Given the description of an element on the screen output the (x, y) to click on. 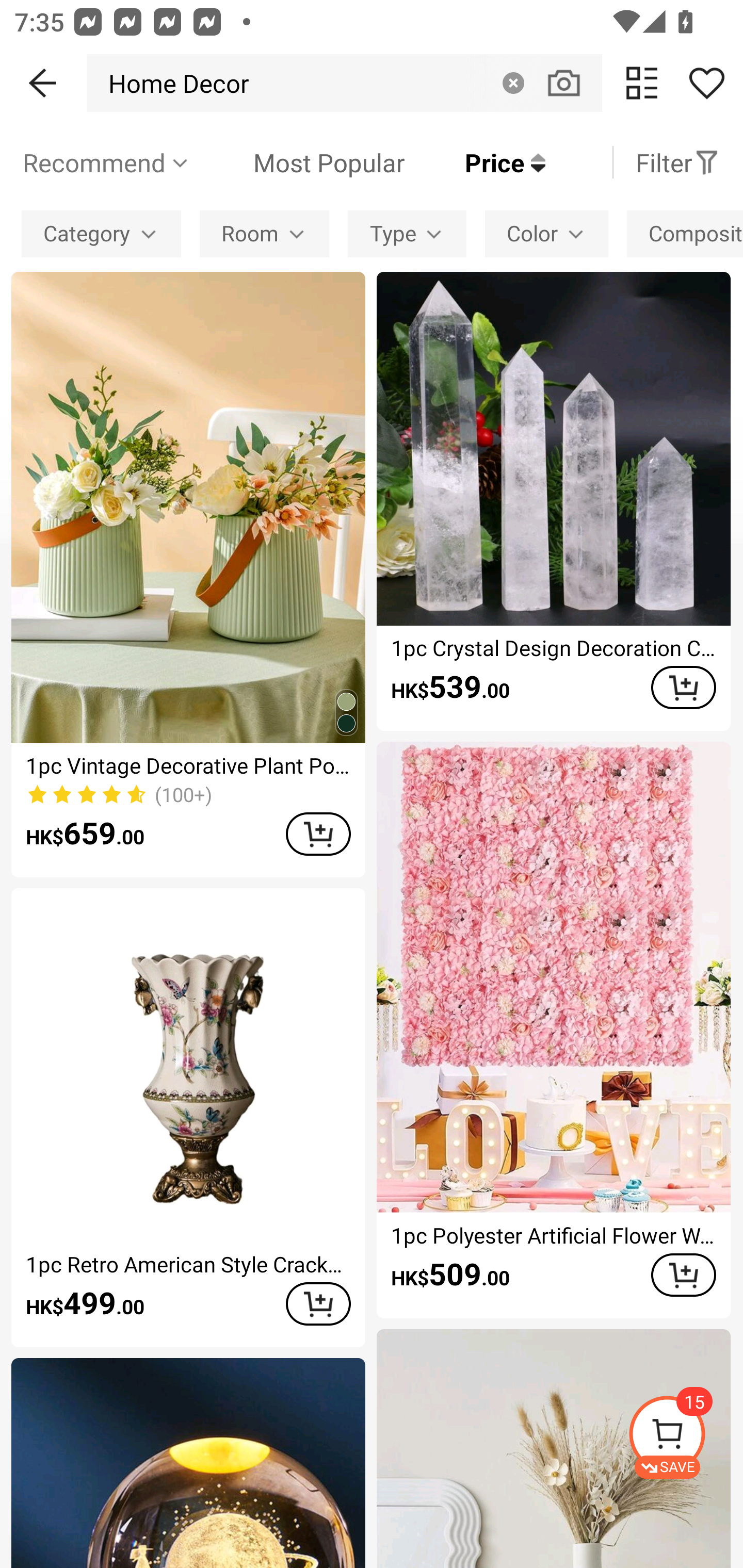
Home Decor Clear (343, 82)
Home Decor (173, 82)
Clear (513, 82)
change view (641, 82)
Share (706, 82)
Recommend (106, 162)
Most Popular (297, 162)
Price (474, 162)
Filter (677, 162)
Category (101, 233)
Room (264, 233)
Type (406, 233)
Color (546, 233)
Composition (685, 233)
ADD TO CART (683, 687)
ADD TO CART (318, 834)
ADD TO CART (683, 1274)
ADD TO CART (318, 1303)
Oval Vase Set-white (553, 1448)
SAVE (685, 1436)
